Given the description of an element on the screen output the (x, y) to click on. 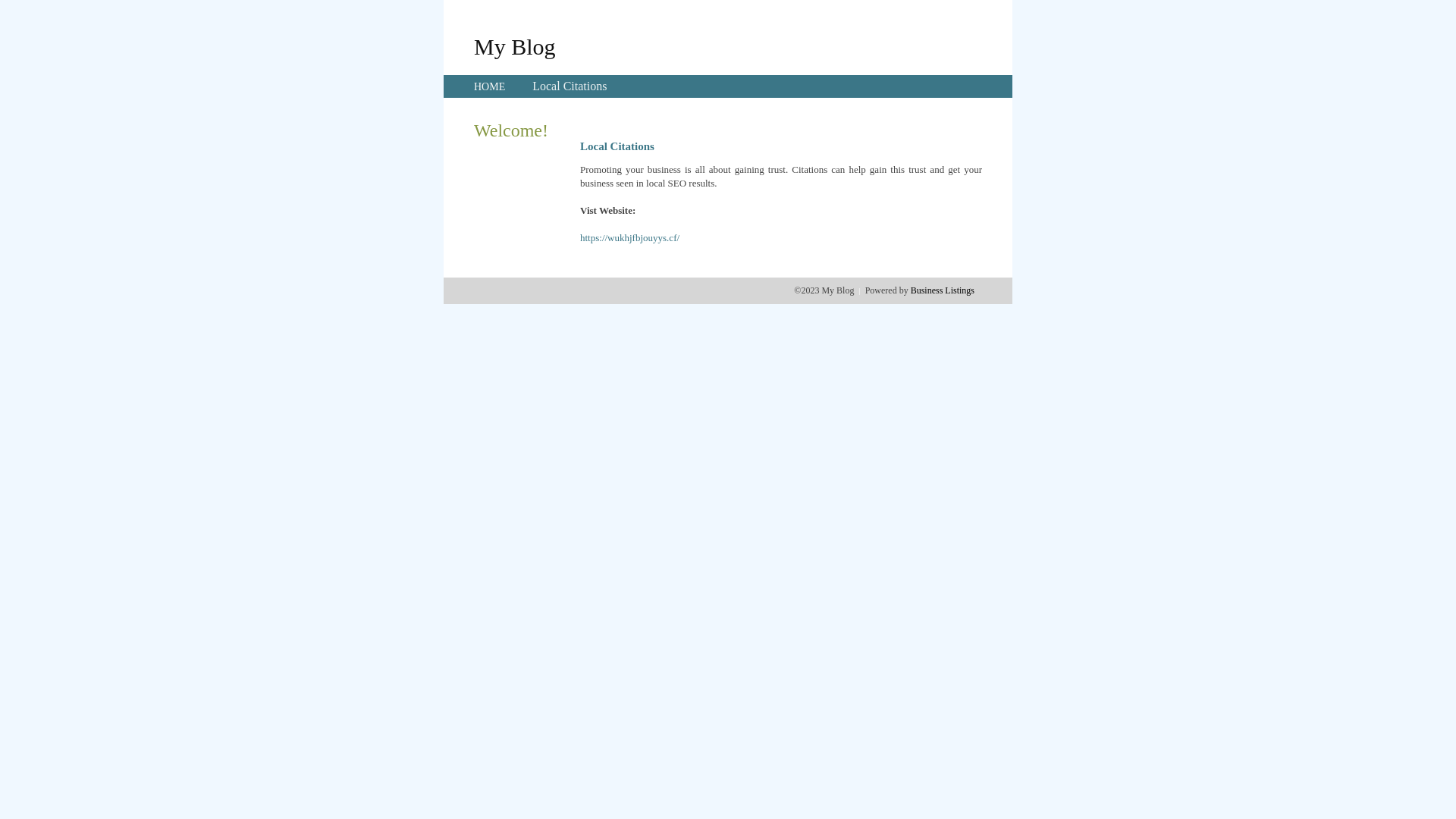
Business Listings Element type: text (942, 290)
https://wukhjfbjouyys.cf/ Element type: text (629, 237)
My Blog Element type: text (514, 46)
Local Citations Element type: text (569, 85)
HOME Element type: text (489, 86)
